Given the description of an element on the screen output the (x, y) to click on. 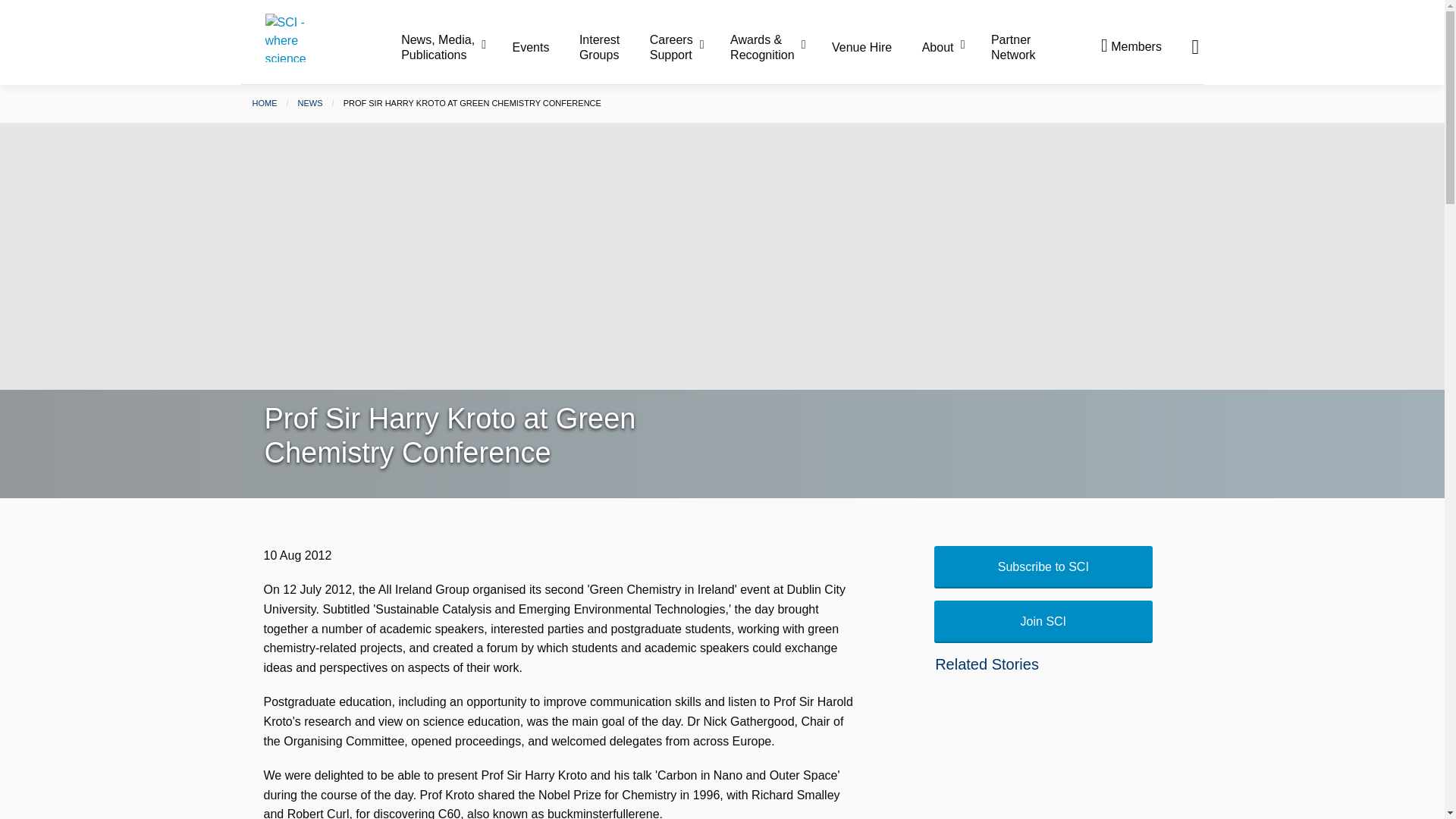
Interest Groups (612, 47)
News, Media, Publications (454, 47)
Venue Hire (874, 47)
Partner Network (1013, 47)
Careers Support (687, 47)
About (954, 47)
Events (544, 47)
